Given the description of an element on the screen output the (x, y) to click on. 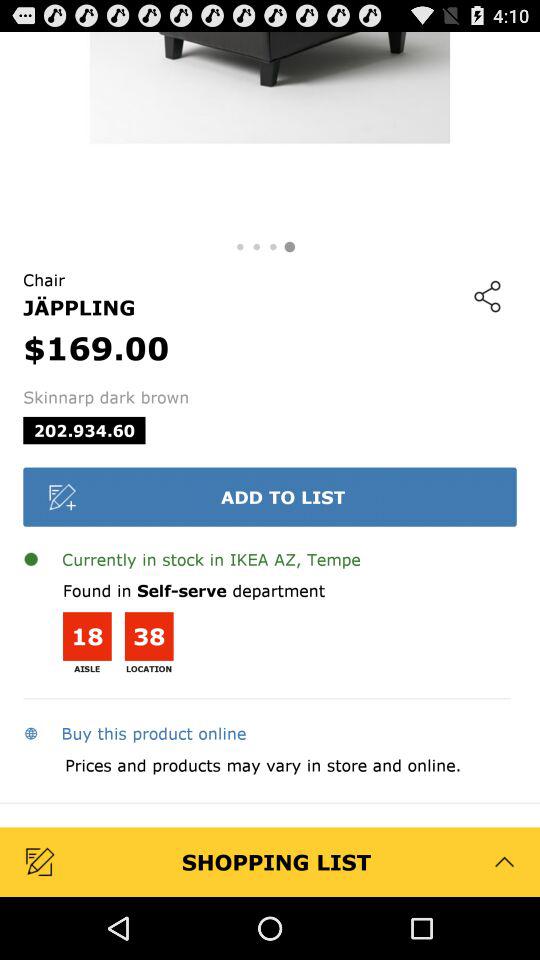
turn on app to the right of the $169.00 icon (487, 296)
